Given the description of an element on the screen output the (x, y) to click on. 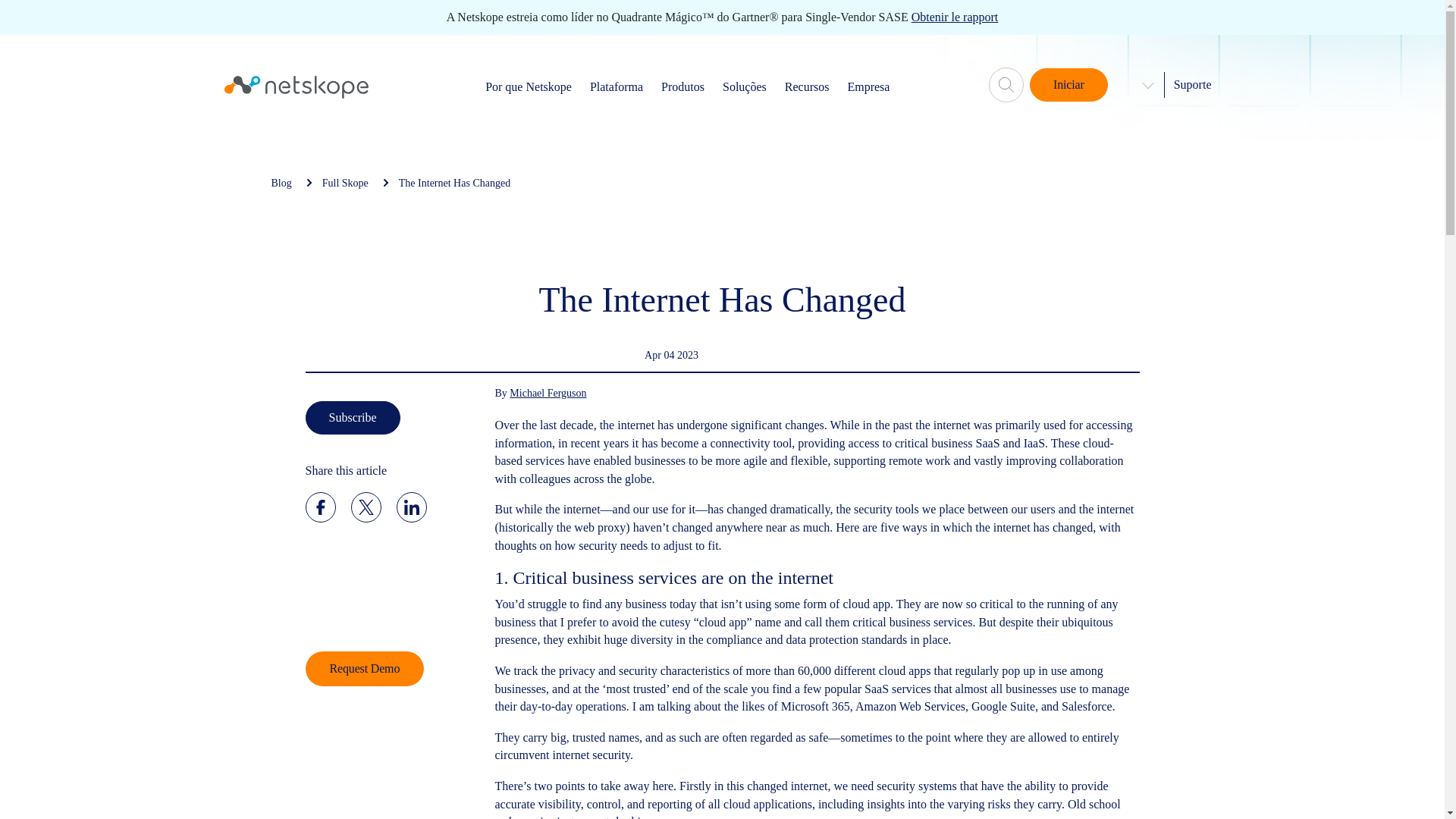
Plataforma (616, 86)
Recursos (806, 86)
Iniciar (1068, 84)
Por que Netskope (528, 86)
Suporte (1192, 83)
Obtenir le rapport (954, 16)
Empresa (868, 86)
Produtos (682, 86)
